Given the description of an element on the screen output the (x, y) to click on. 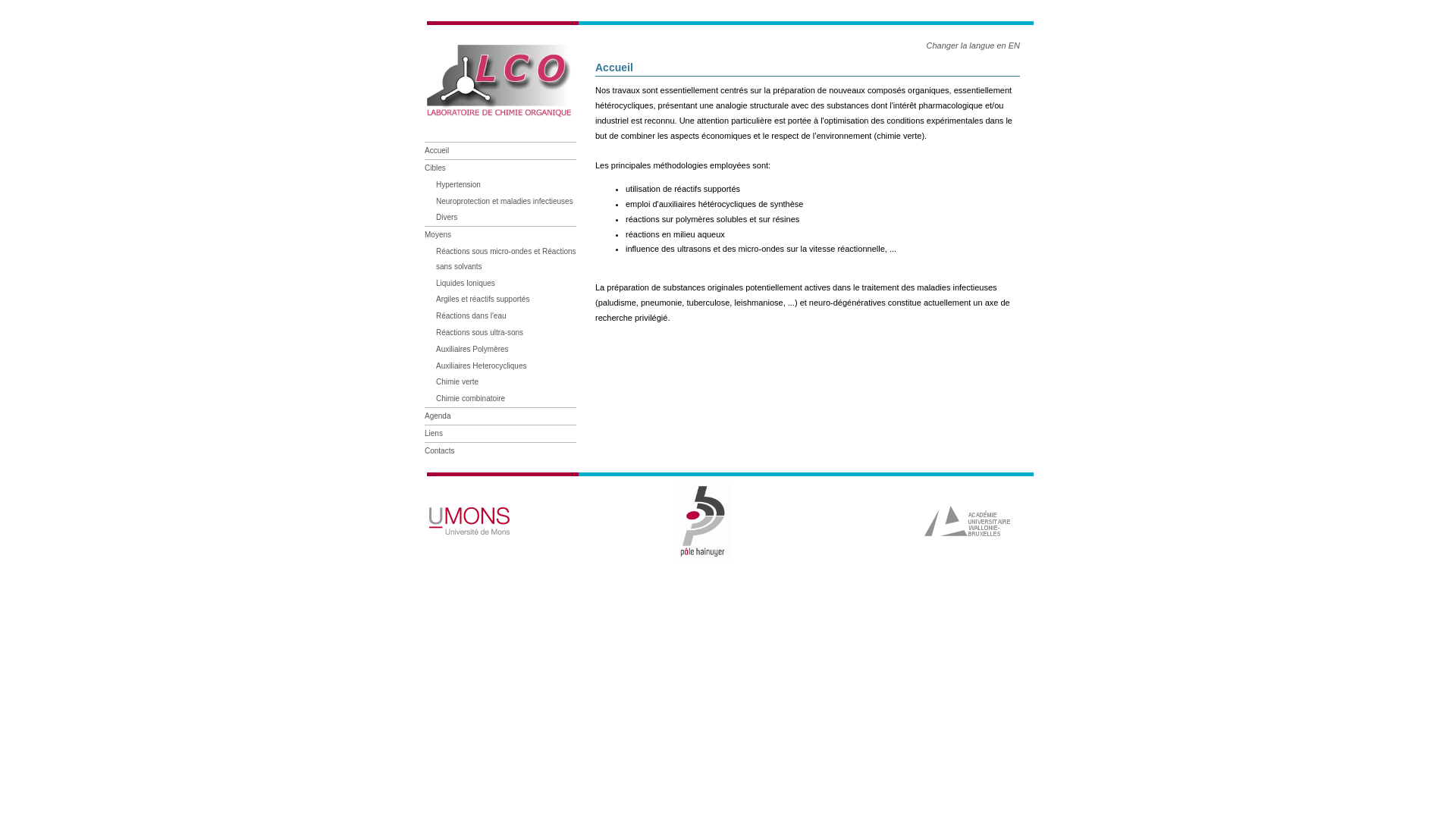
Contacts Element type: text (439, 450)
Divers Element type: text (446, 217)
Hypertension Element type: text (458, 184)
Neuroprotection et maladies infectieuses Element type: text (504, 201)
Auxiliaires Heterocycliques Element type: text (481, 365)
Moyens Element type: text (437, 234)
Chimie verte Element type: text (457, 381)
Liens Element type: text (433, 433)
Liquides Ioniques Element type: text (465, 283)
Cibles Element type: text (434, 167)
Changer la langue en EN Element type: text (972, 45)
Agenda Element type: text (437, 415)
Chimie combinatoire Element type: text (470, 398)
Accueil Element type: text (436, 150)
